Given the description of an element on the screen output the (x, y) to click on. 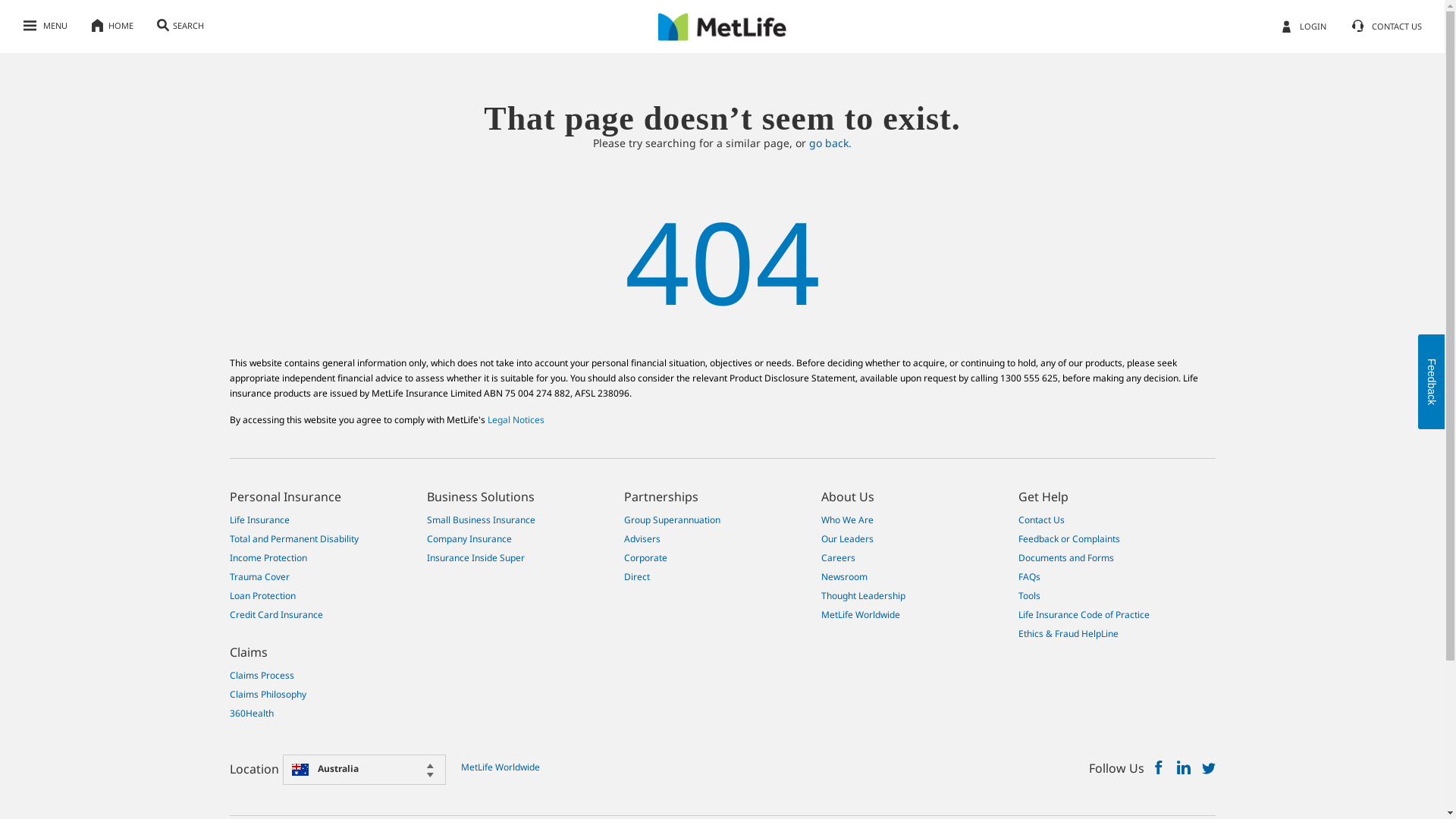
Documents and Forms Element type: text (1065, 557)
Twitter Element type: hover (1207, 769)
SEARCH SEARCH Element type: text (179, 20)
HOME HOME Element type: text (111, 26)
Feedback or Complaints Element type: text (1068, 538)
Thought Leadership Element type: text (862, 595)
Newsroom Element type: text (843, 576)
Legal Notices Element type: text (514, 419)
Direct Element type: text (636, 576)
Total and Permanent Disability Element type: text (293, 538)
Group Superannuation Element type: text (671, 519)
go back. Element type: text (830, 142)
Claims Philosophy Element type: text (267, 693)
Life Insurance Element type: text (258, 519)
Income Protection Element type: text (267, 557)
Company Insurance Element type: text (468, 538)
Small Business Insurance Element type: text (480, 519)
LinkedIn Element type: hover (1183, 769)
Facebook Element type: hover (1157, 769)
Our Leaders Element type: text (846, 538)
LOGIN Element type: text (1303, 26)
Advisers Element type: text (641, 538)
Ethics & Fraud HelpLine Element type: text (1067, 633)
Life Insurance Code of Practice Element type: text (1082, 614)
Trauma Cover Element type: text (258, 576)
Claims Process Element type: text (261, 674)
FAQs Element type: text (1028, 576)
MENU Element type: text (44, 26)
Loan Protection Element type: text (261, 595)
Contact Us Element type: text (1040, 519)
Tools Element type: text (1028, 595)
Careers Element type: text (837, 557)
Insurance Inside Super Element type: text (475, 557)
CONTACT US Element type: text (1386, 26)
360Health Element type: text (251, 712)
Who We Are Element type: text (846, 519)
MetLife Worldwide Element type: text (859, 614)
Corporate Element type: text (644, 557)
Skip Navigation Element type: text (722, 14)
Credit Card Insurance Element type: text (275, 614)
MetLife Worldwide Element type: text (494, 767)
